Given the description of an element on the screen output the (x, y) to click on. 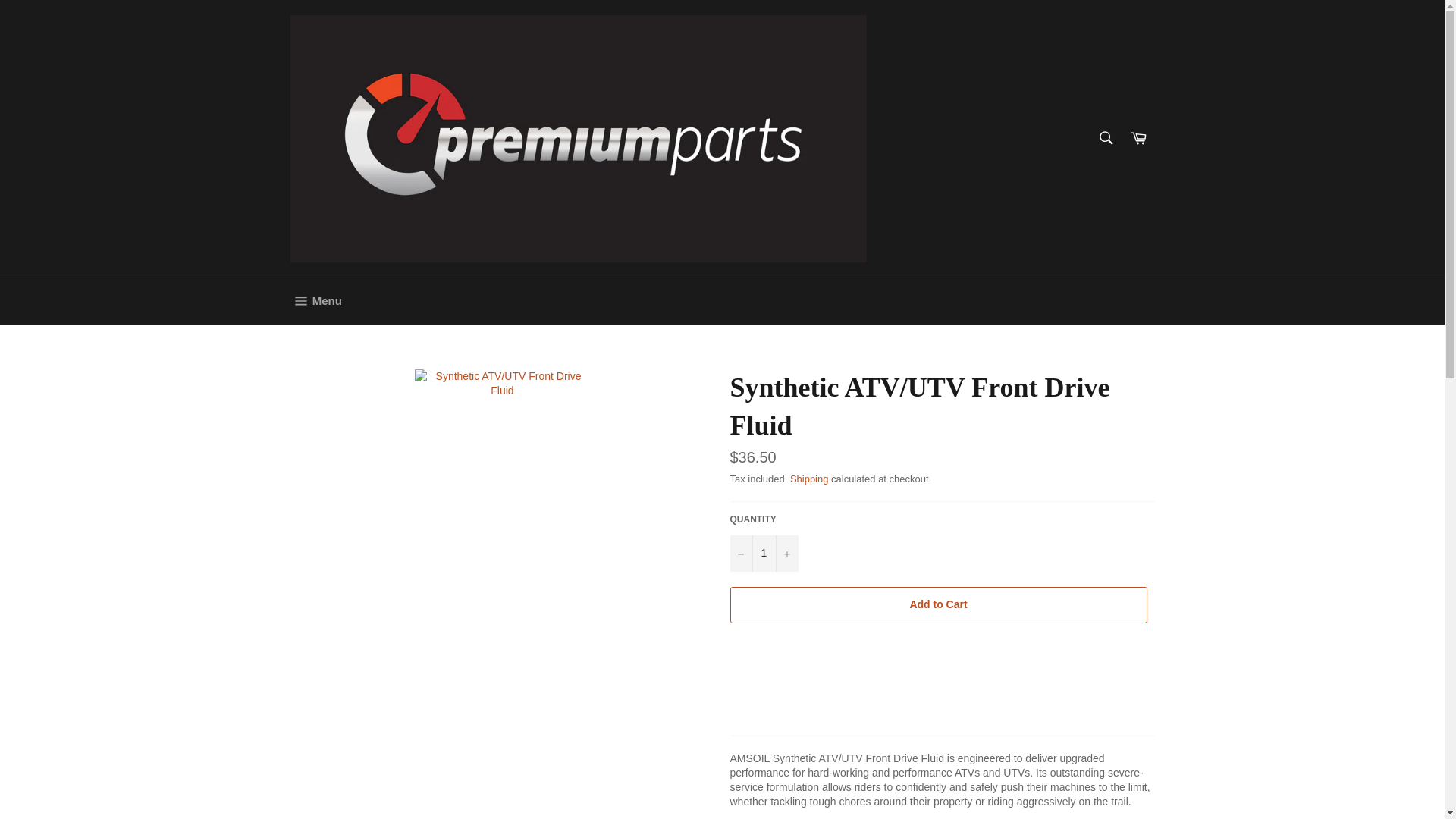
1 (763, 553)
